Given the description of an element on the screen output the (x, y) to click on. 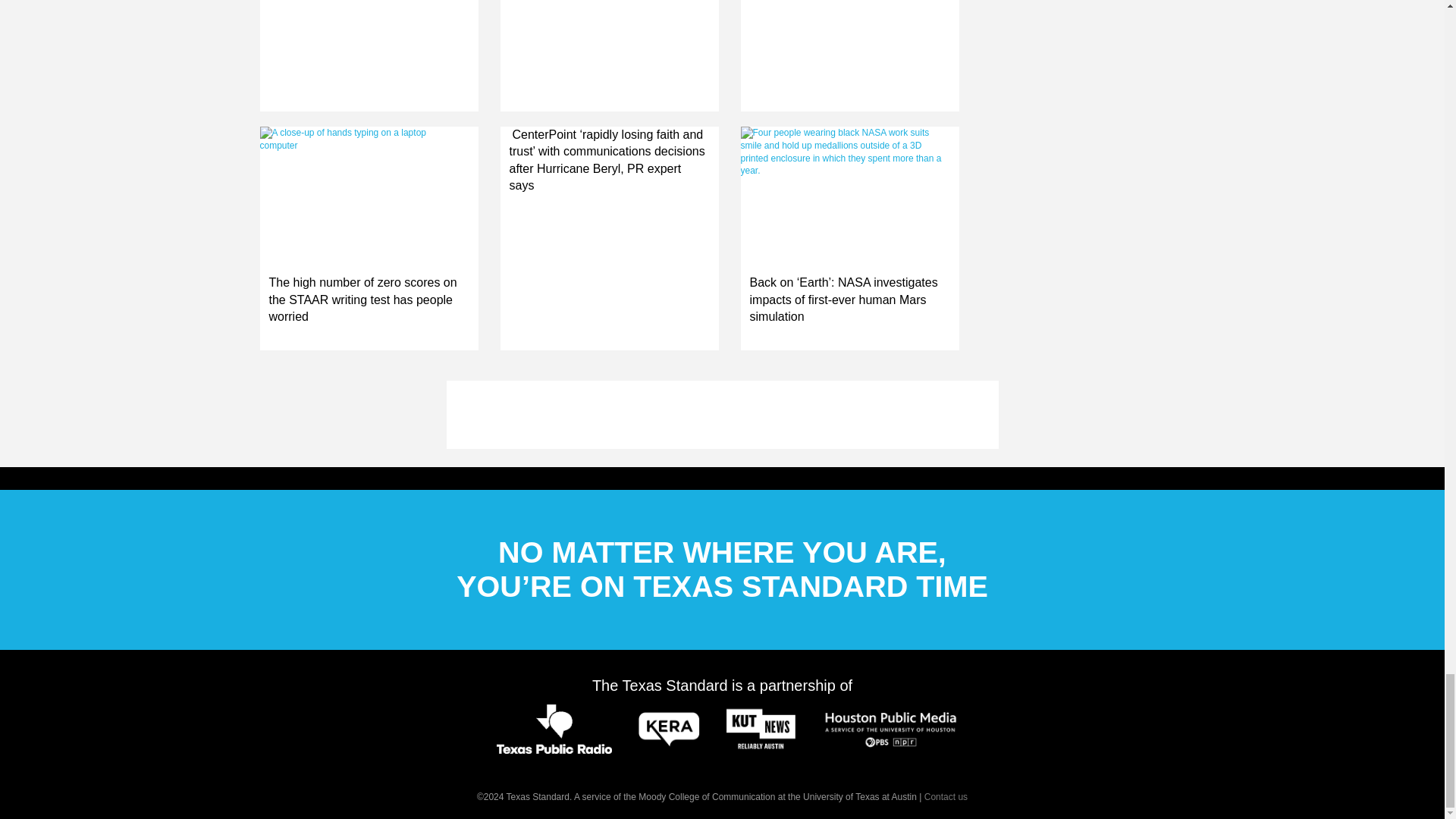
3rd party ad content (721, 414)
